Given the description of an element on the screen output the (x, y) to click on. 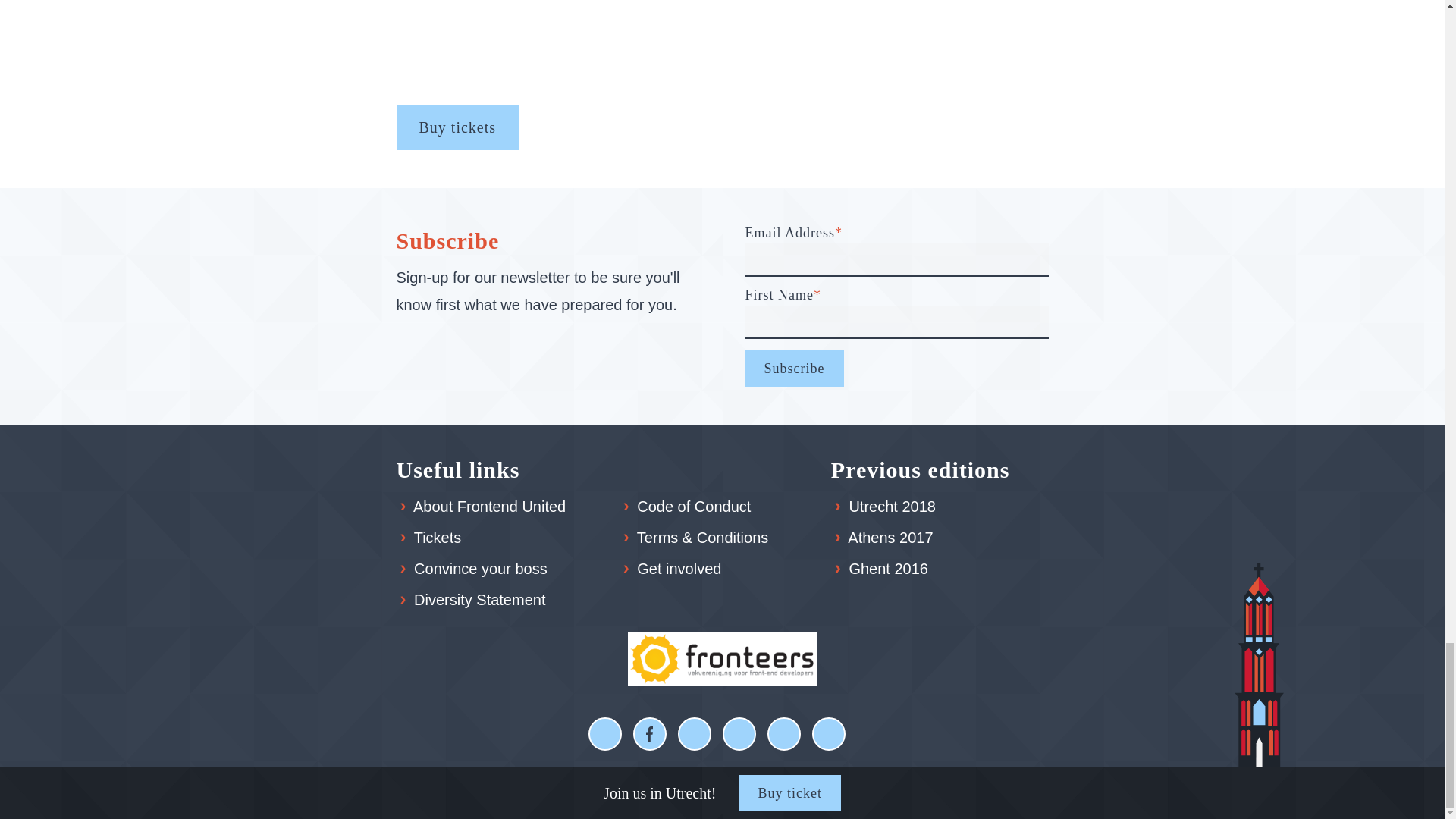
Tickets (437, 538)
Link to Terms and Conditions (702, 538)
Subscribe (793, 368)
About Frontend United (489, 506)
Link to about Frontend United page (489, 506)
Buy tickets (457, 126)
Convince your boss (480, 569)
Link to Diversity Statement (478, 600)
Subscribe (793, 368)
Link to Code of Conduct (694, 506)
